Given the description of an element on the screen output the (x, y) to click on. 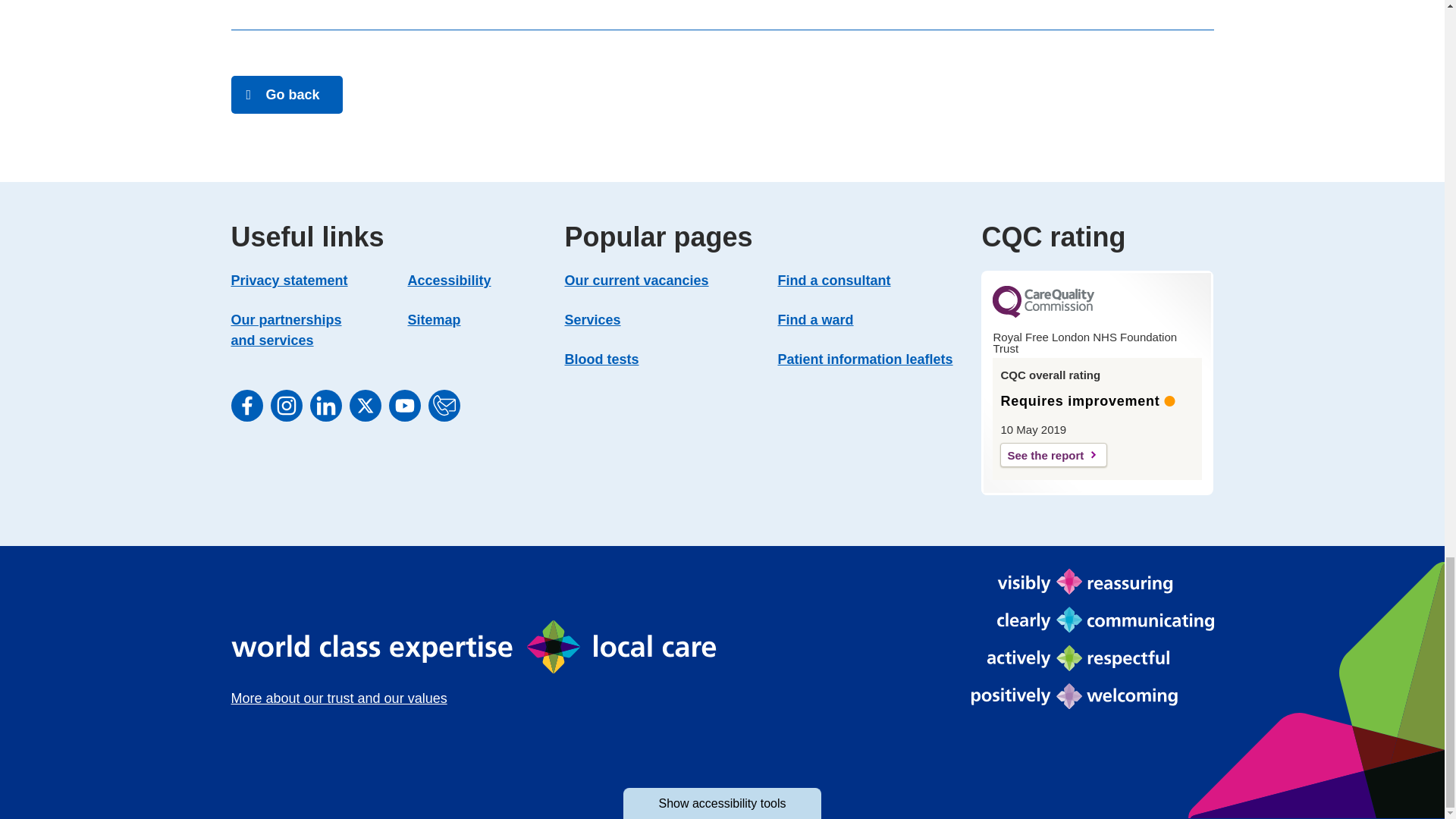
Go back to News (286, 94)
LinkedIn (324, 405)
Email (444, 405)
X (364, 405)
CQC Logo (1043, 313)
Instagram (285, 405)
Youtube (404, 405)
Facebook (246, 405)
